Given the description of an element on the screen output the (x, y) to click on. 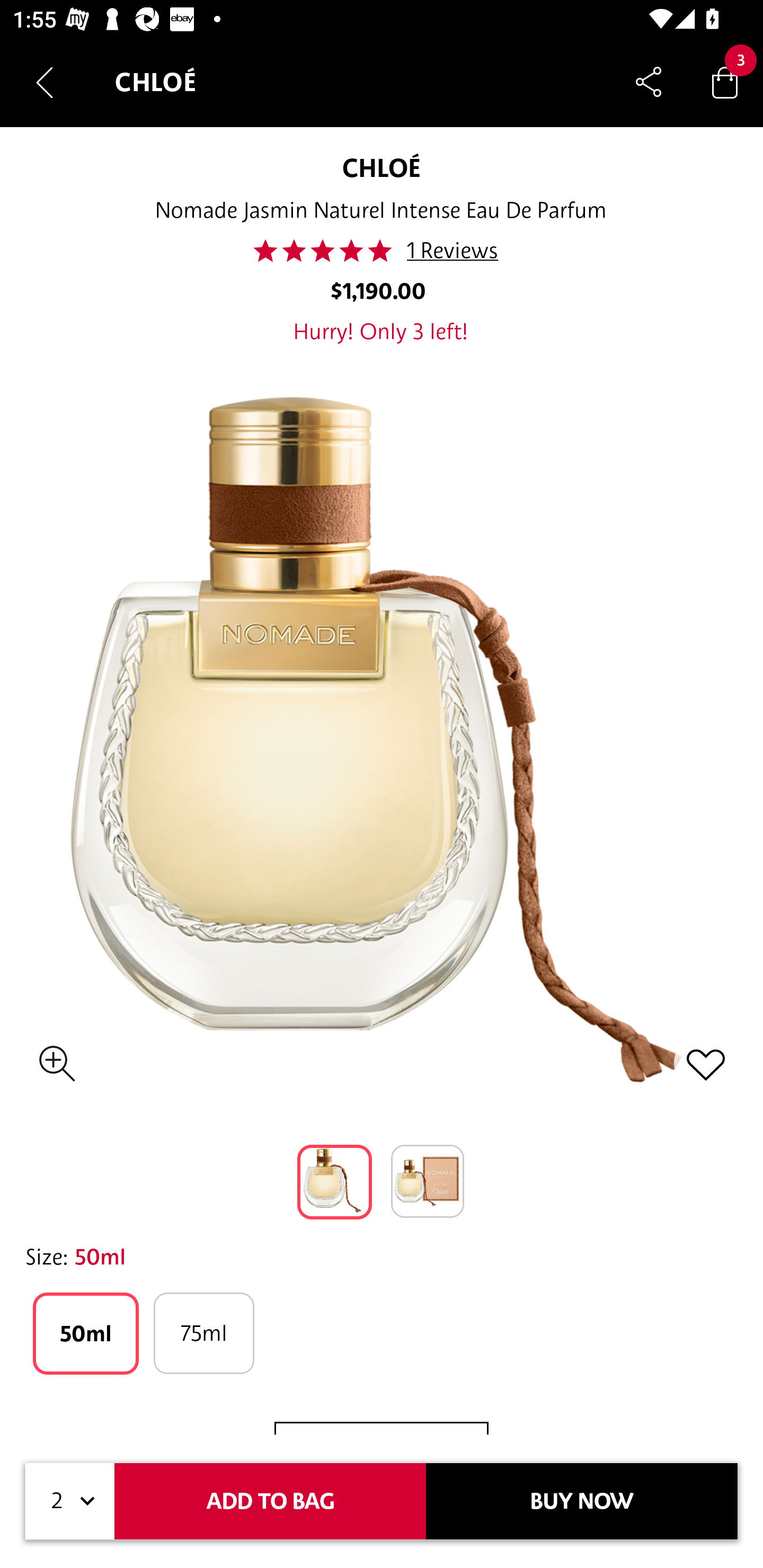
Navigate up (44, 82)
Share (648, 81)
Bag (724, 81)
CHLOÉ (381, 167)
50.0 1 Reviews (381, 250)
50ml (85, 1333)
75ml (203, 1332)
2 (69, 1500)
ADD TO BAG (269, 1500)
BUY NOW (581, 1500)
